Given the description of an element on the screen output the (x, y) to click on. 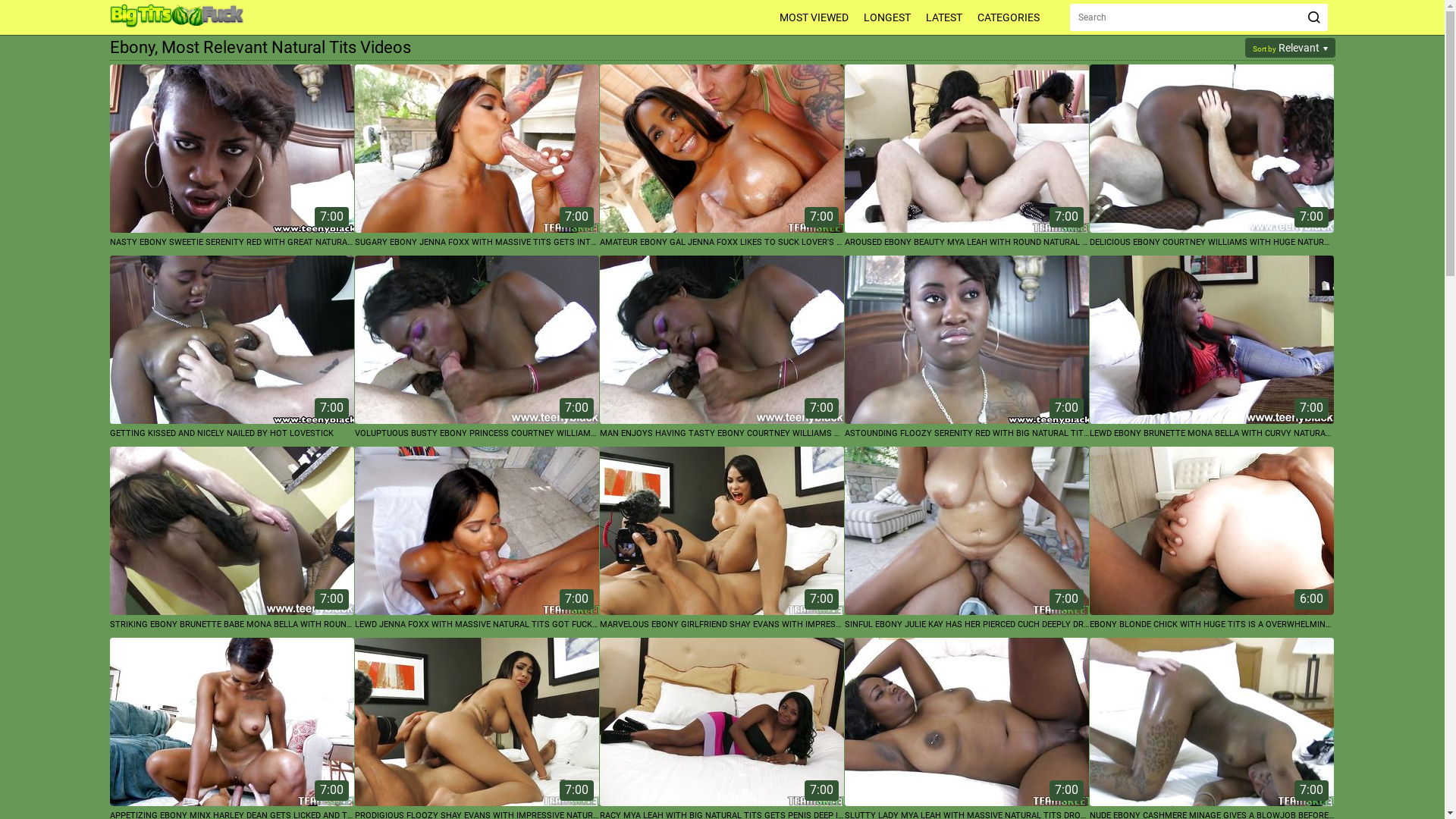
7:00
GETTING KISSED AND NICELY NAILED BY HOT LOVESTICK Element type: text (231, 348)
CATEGORIES Element type: text (1007, 17)
LONGEST Element type: text (886, 17)
MOST VIEWED Element type: text (813, 17)
LATEST Element type: text (943, 17)
